Given the description of an element on the screen output the (x, y) to click on. 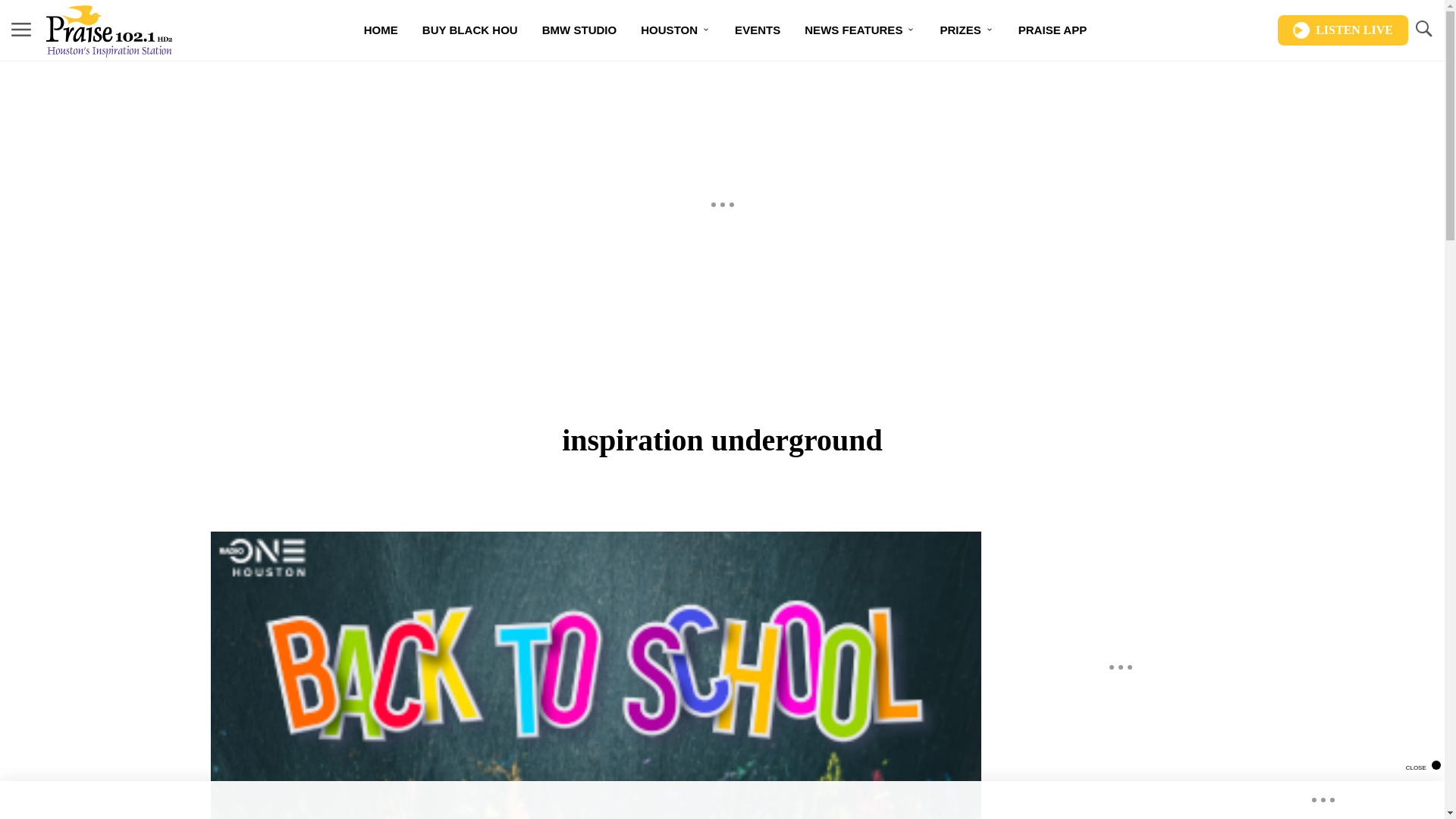
TOGGLE SEARCH (1422, 28)
PRAISE APP (1052, 30)
TOGGLE SEARCH (1422, 30)
HOUSTON (675, 30)
EVENTS (757, 30)
LISTEN LIVE (1342, 30)
MUSIC PLAYLIST (647, 82)
HOME (381, 30)
PRIZES (966, 30)
BUY BLACK HOU (469, 30)
